Given the description of an element on the screen output the (x, y) to click on. 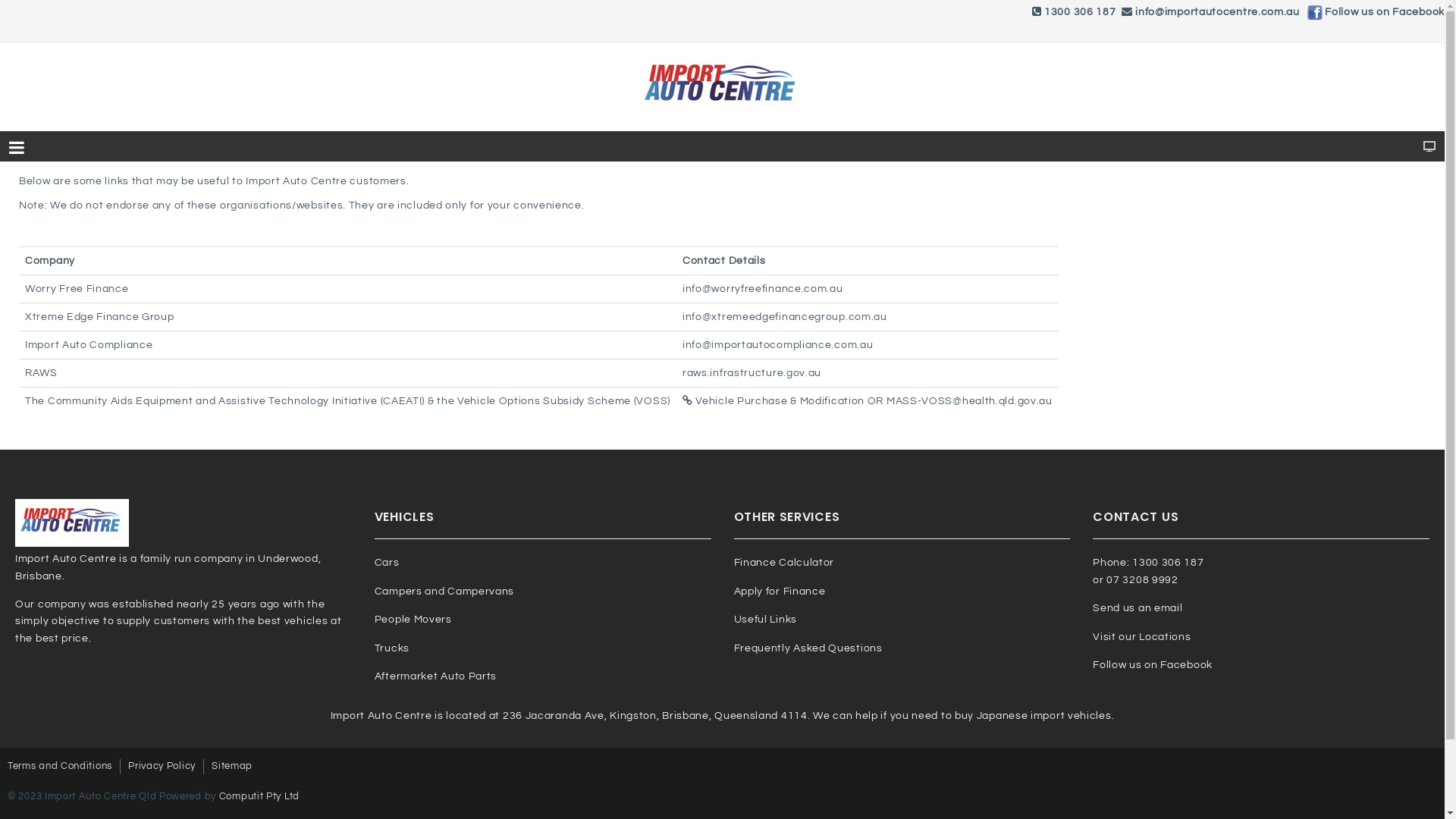
Apply for Finance Element type: text (779, 591)
MASS-VOSS@health.qld.gov.au Element type: text (969, 400)
Sitemap Element type: text (231, 766)
Frequently Asked Questions Element type: text (808, 648)
Trucks Element type: text (391, 648)
info@worryfreefinance.com.au Element type: text (762, 288)
Vehicle Purchase & Modification Element type: text (773, 400)
Computit Pty Ltd Element type: text (259, 796)
Campers and Campervans Element type: text (444, 591)
Finance Calculator Element type: text (784, 562)
Useful Links Element type: text (765, 619)
People Movers Element type: text (412, 619)
info@importautocentre.com.au Element type: text (1217, 11)
Aftermarket Auto Parts Element type: text (435, 676)
Cars Element type: text (386, 562)
Privacy Policy Element type: text (161, 766)
info@xtremeedgefinancegroup.com.au Element type: text (784, 316)
Follow us on Facebook Element type: text (1152, 664)
Send us an email Element type: text (1137, 607)
raws.infrastructure.gov.au Element type: text (751, 372)
info@importautocompliance.com.au Element type: text (777, 344)
1300 306 187 Element type: text (1079, 11)
Terms and Conditions Element type: text (59, 766)
Visit our Locations Element type: text (1141, 636)
Follow us on Facebook Element type: text (1384, 11)
